Given the description of an element on the screen output the (x, y) to click on. 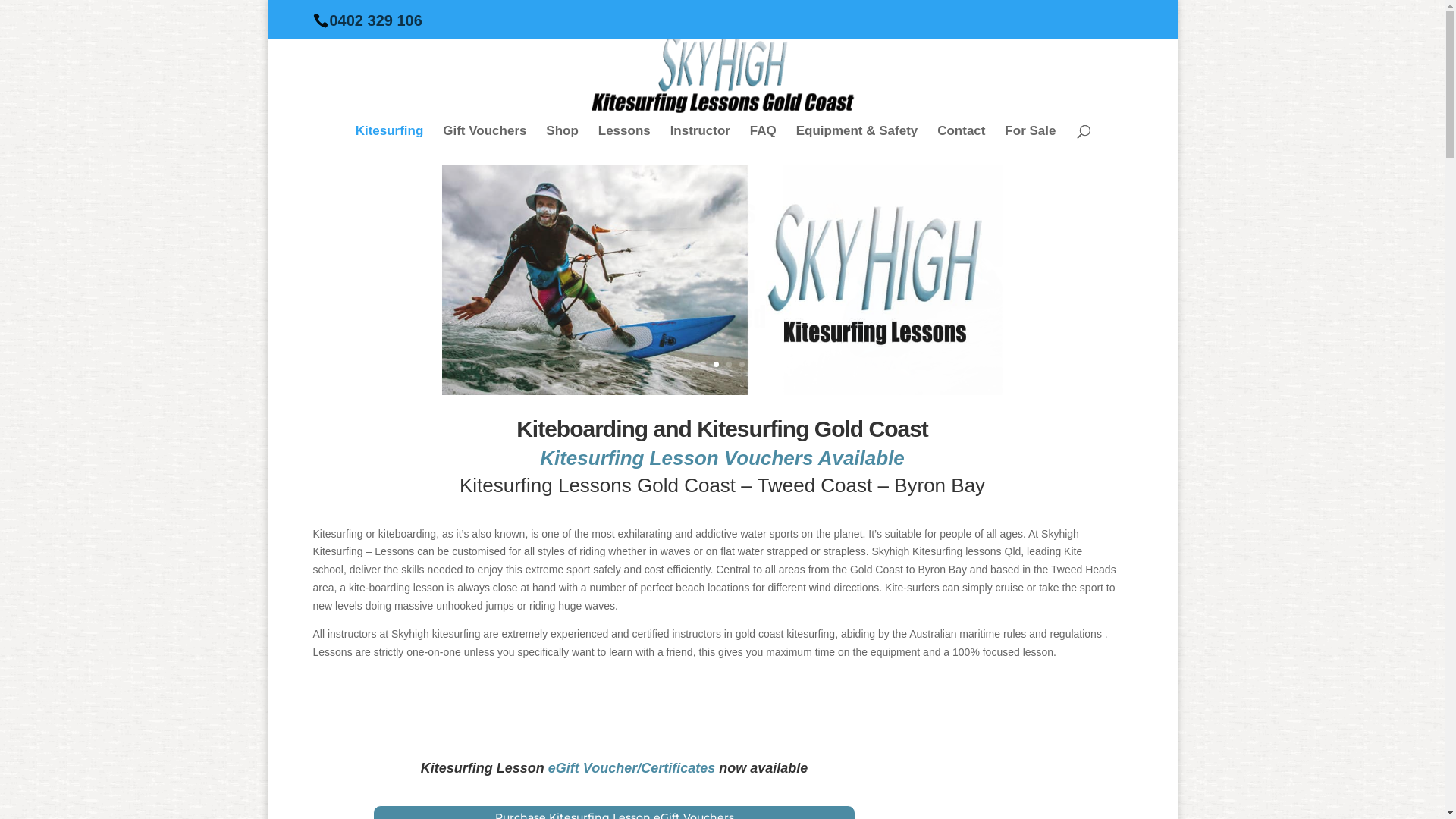
FAQ Element type: text (762, 139)
Lessons Element type: text (624, 139)
Equipment & Safety Element type: text (857, 139)
2 Element type: text (715, 364)
3 Element type: text (728, 364)
eGift Voucher/Certificates Element type: text (631, 767)
1 Element type: text (703, 364)
Instructor Element type: text (700, 139)
For Sale Element type: text (1029, 139)
Kitesurfing Element type: text (389, 139)
4 Element type: text (740, 364)
Shop Element type: text (562, 139)
Contact Element type: text (961, 139)
Kitesurfing Lesson Vouchers Available Element type: text (721, 457)
Gift Vouchers Element type: text (484, 139)
0402 329 106 Element type: text (375, 20)
